Given the description of an element on the screen output the (x, y) to click on. 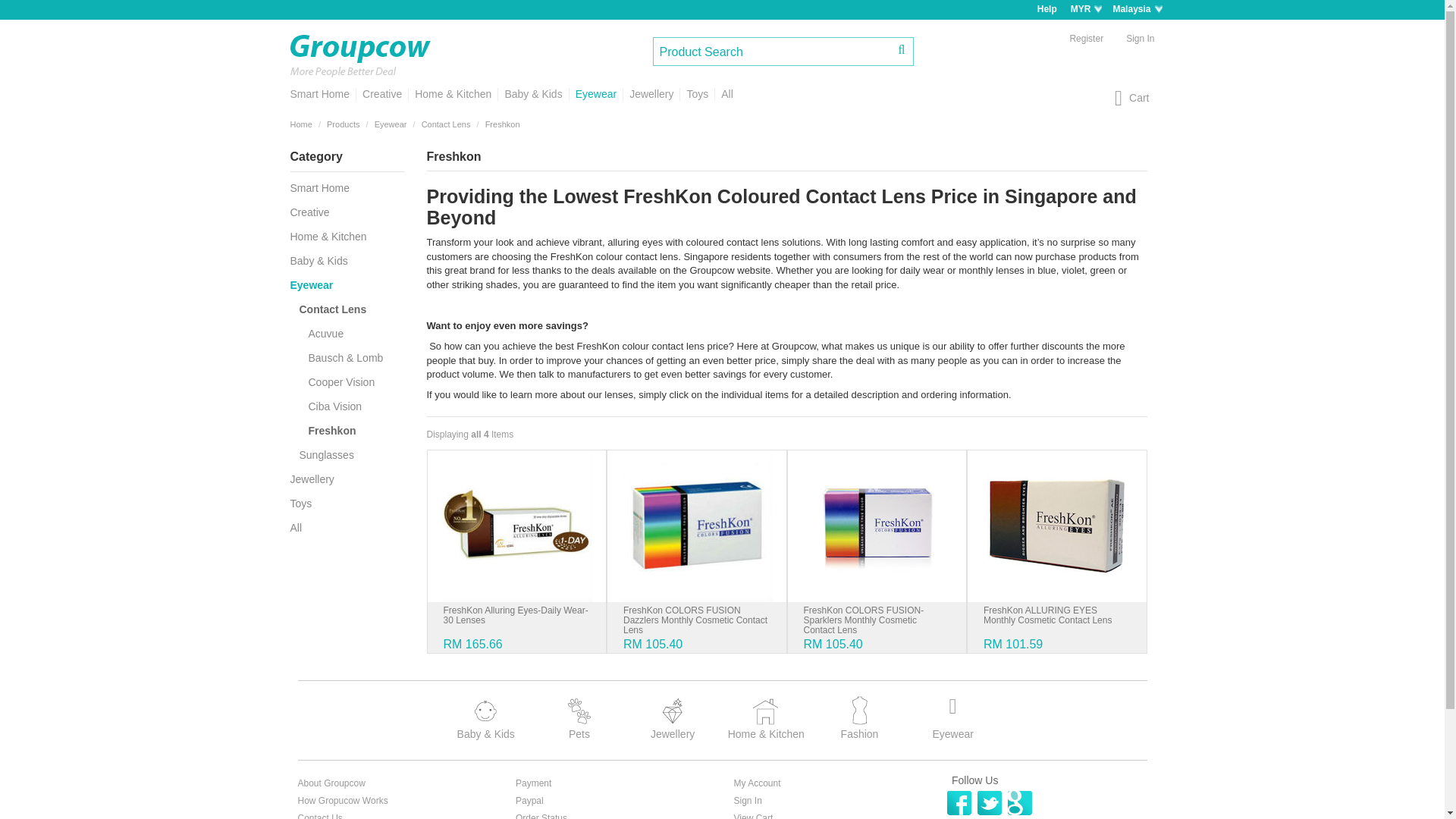
Follow us on Twitter (988, 802)
Search (901, 49)
Eyewear (596, 93)
FreshKon ALLURING EYES Monthly Cosmetic Contact Lens (1056, 525)
Register (1086, 38)
Creative (381, 93)
FreshKon ALLURING EYES Monthly Cosmetic Contact Lens (1048, 615)
Help (1046, 9)
Sign In (1140, 38)
Smart Home (322, 93)
Follow us on Facebook (959, 802)
FreshKon Alluring Eyes-Daily Wear-30 Lenses (516, 525)
